Given the description of an element on the screen output the (x, y) to click on. 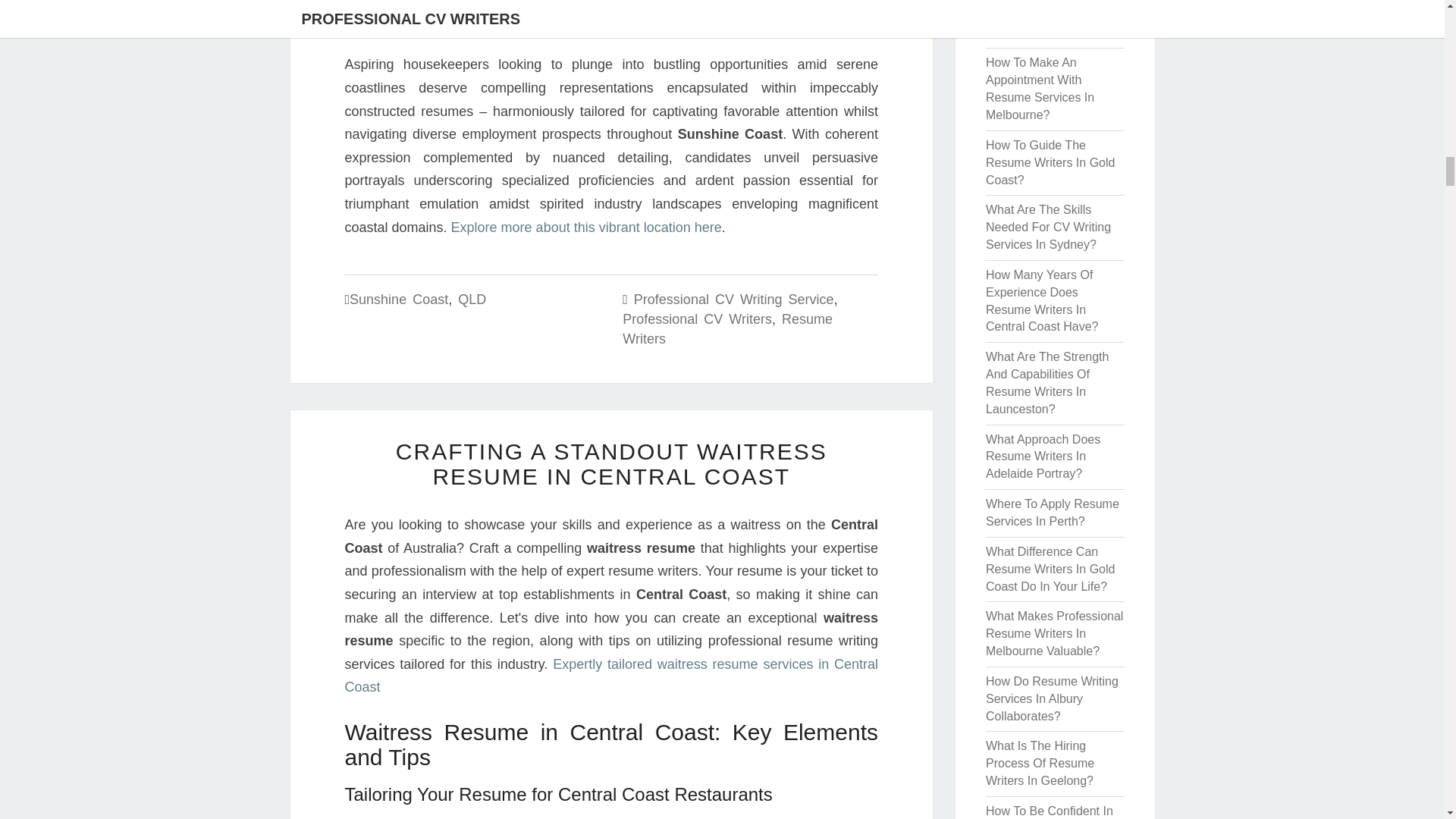
Resume Writers (727, 329)
QLD (472, 299)
Expertly tailored waitress resume services in Central Coast (610, 675)
Sunshine Coast (398, 299)
Explore more about this vibrant location here (586, 227)
Professional CV Writing Service (733, 299)
Professional CV Writers (697, 319)
CRAFTING A STANDOUT WAITRESS RESUME IN CENTRAL COAST (611, 463)
